Given the description of an element on the screen output the (x, y) to click on. 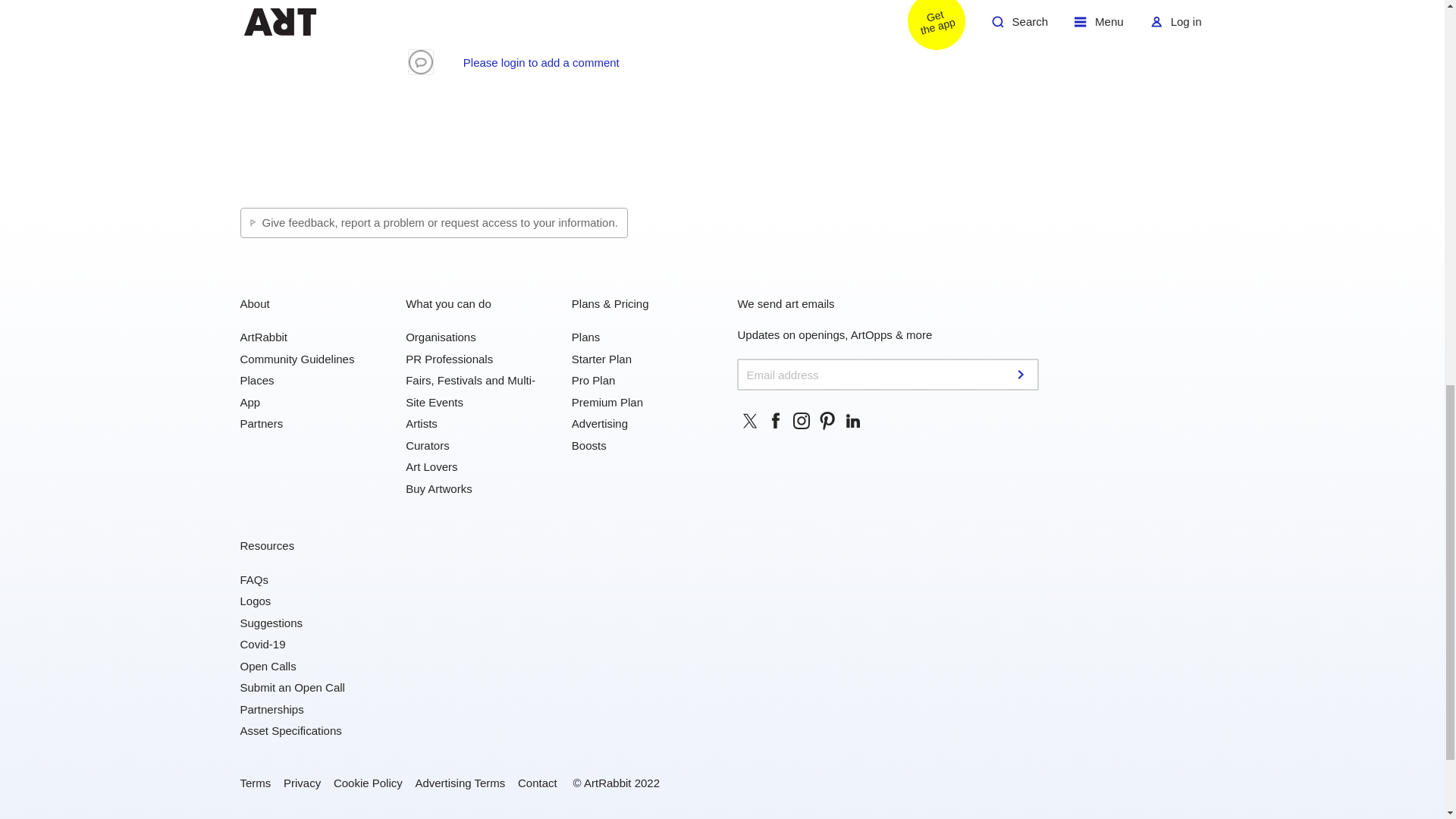
submit (1021, 374)
